Given the description of an element on the screen output the (x, y) to click on. 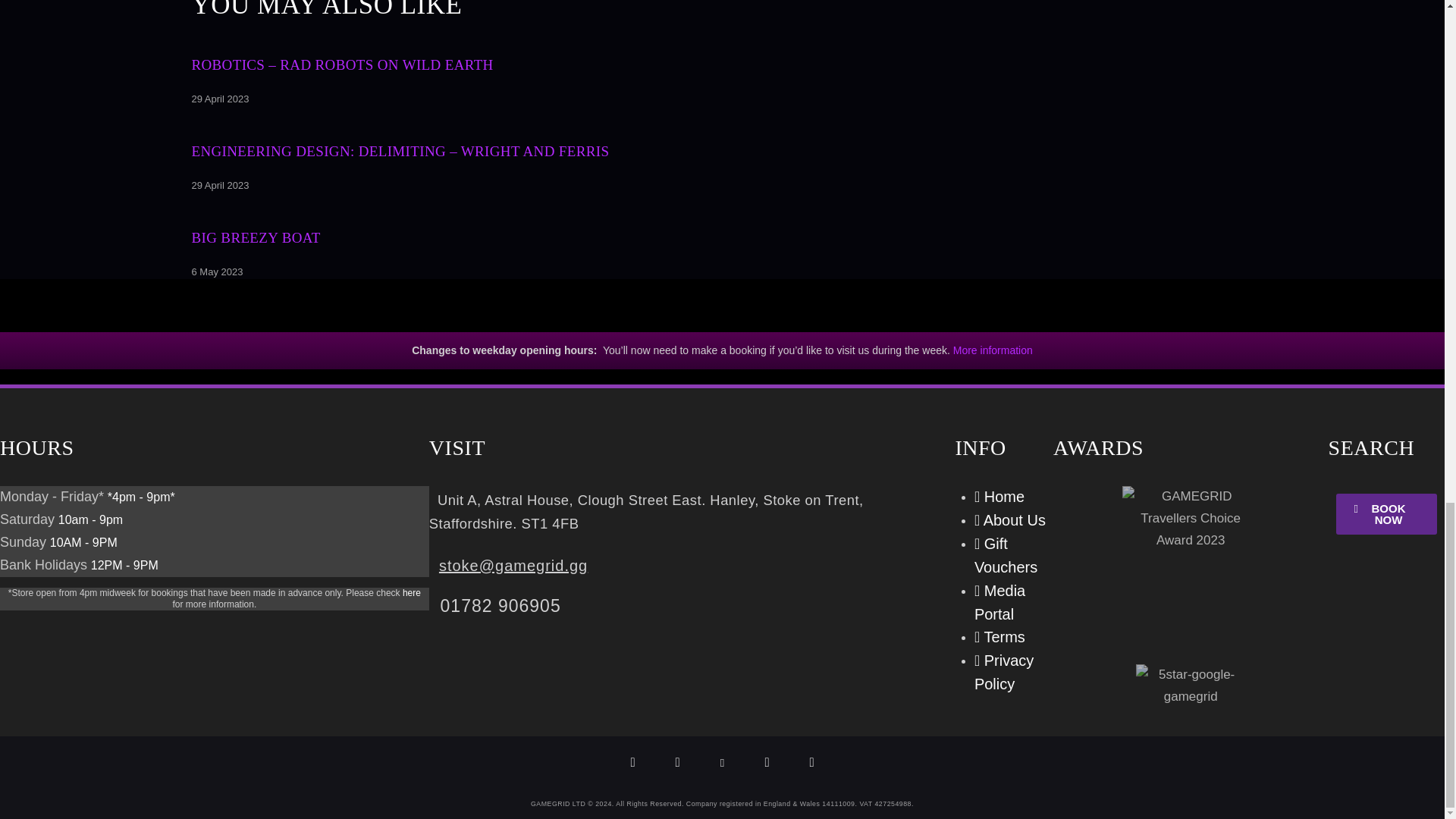
5star-google-gamegrid (1190, 686)
